Given the description of an element on the screen output the (x, y) to click on. 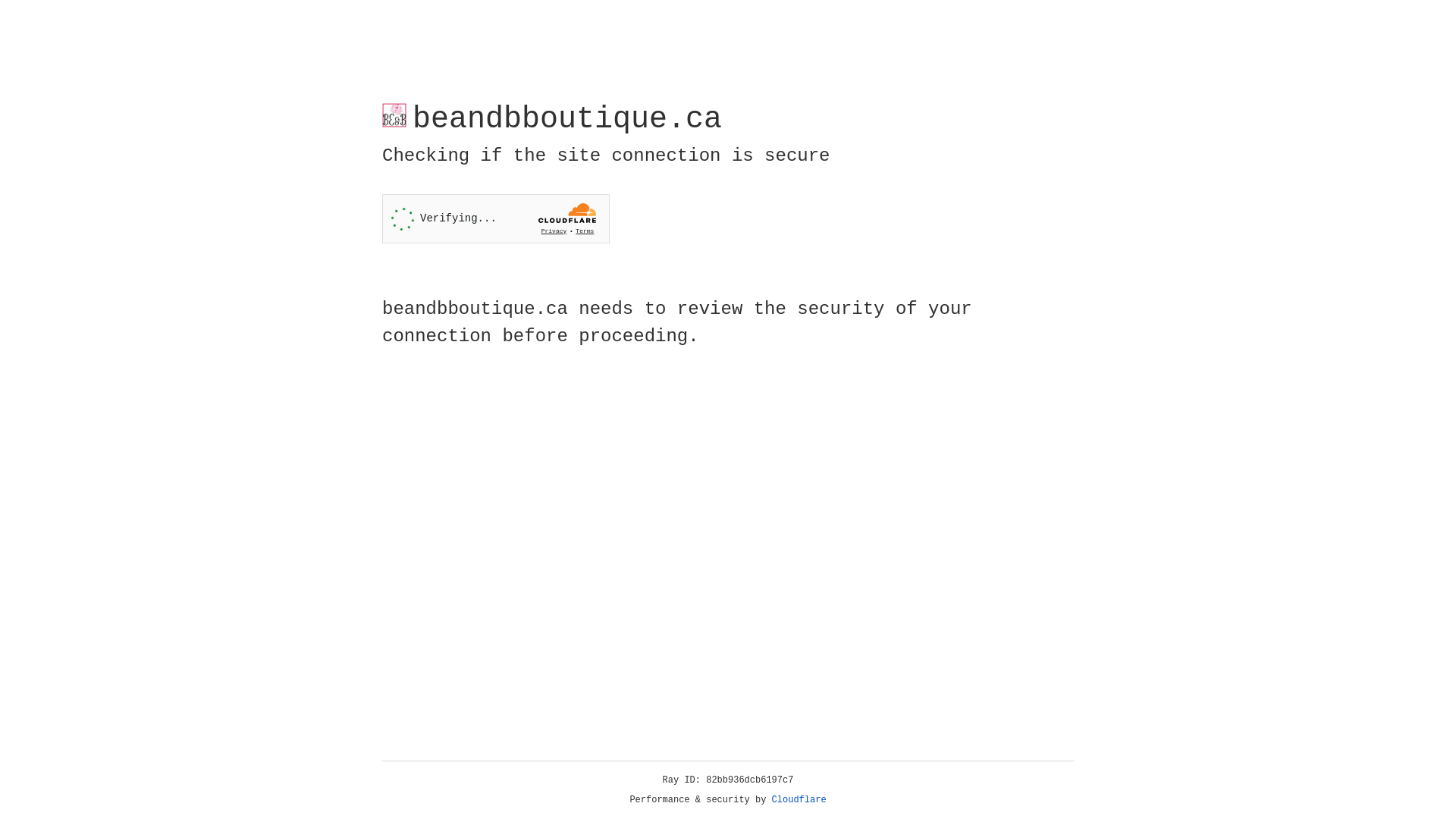
Cloudflare Element type: text (798, 799)
Widget containing a Cloudflare security challenge Element type: hover (495, 218)
